Given the description of an element on the screen output the (x, y) to click on. 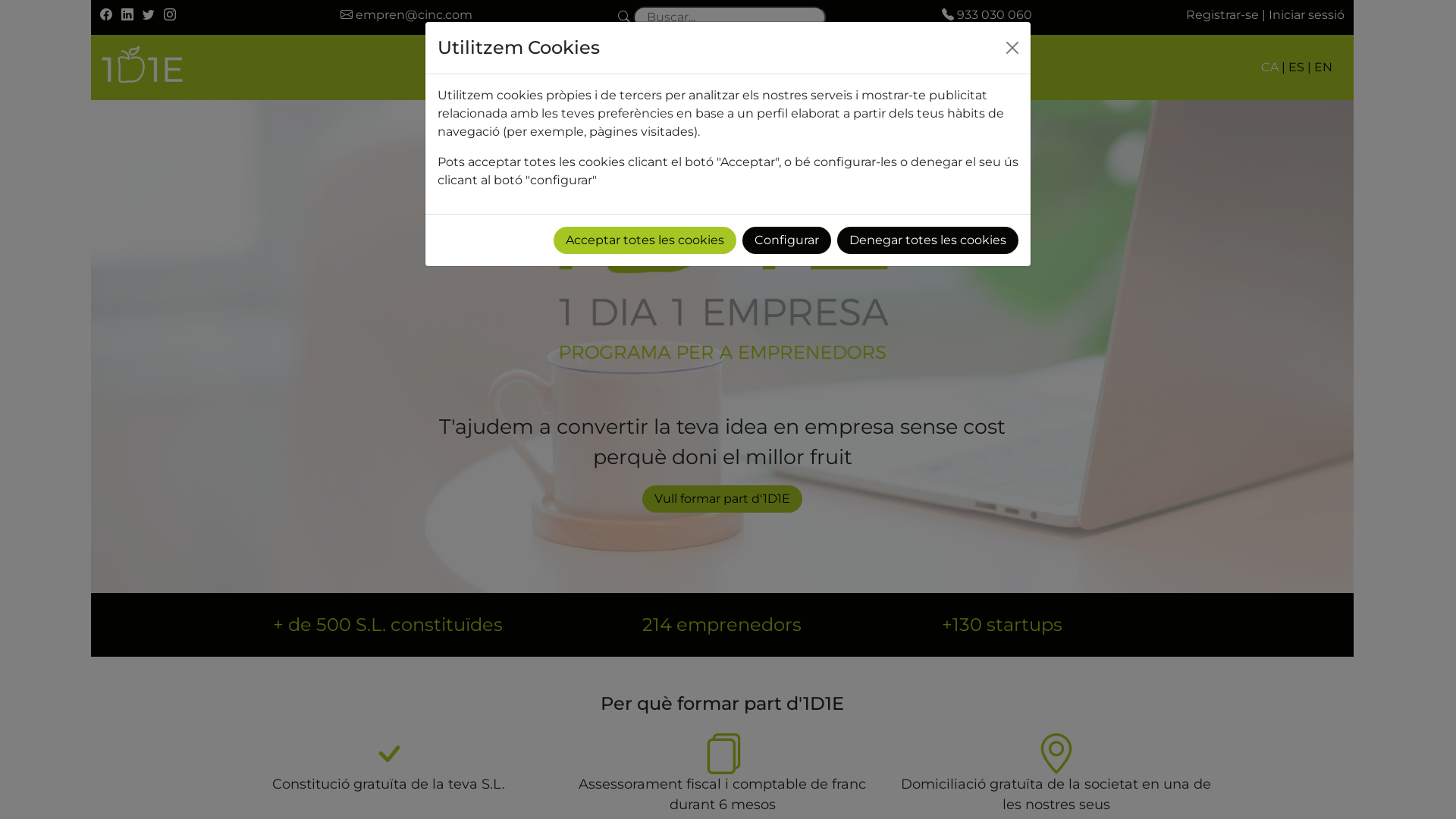
empren@cinc.com Element type: text (406, 14)
Contacte Element type: text (796, 67)
Actualitat Element type: text (701, 67)
Vull formar part d'1D1E Element type: text (722, 498)
933 030 060 Element type: text (986, 14)
Acceptar totes les cookies Element type: text (644, 240)
ES Element type: text (1296, 66)
Inscriu-te al programa Element type: text (934, 67)
Logo 1 dia 1 empresa Element type: hover (721, 255)
Configurar Element type: text (786, 240)
EN Element type: text (1323, 66)
Denegar totes les cookies Element type: text (927, 240)
Registrar-se Element type: text (1222, 14)
Projectes 1D1E Element type: text (592, 67)
